Given the description of an element on the screen output the (x, y) to click on. 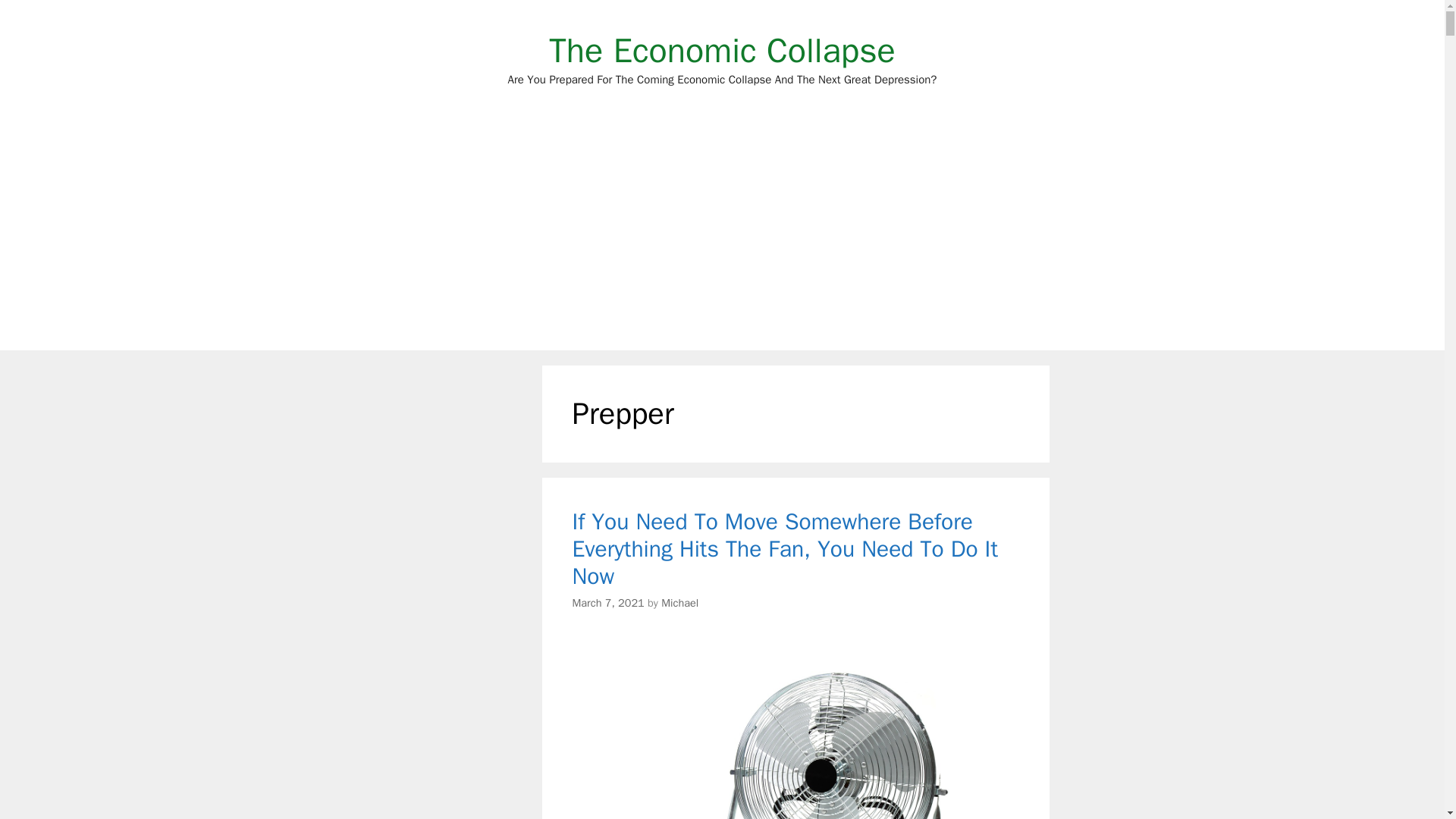
March 7, 2021 (607, 602)
Michael (679, 602)
The Economic Collapse (721, 50)
View all posts by Michael (679, 602)
5:26 pm (607, 602)
